Given the description of an element on the screen output the (x, y) to click on. 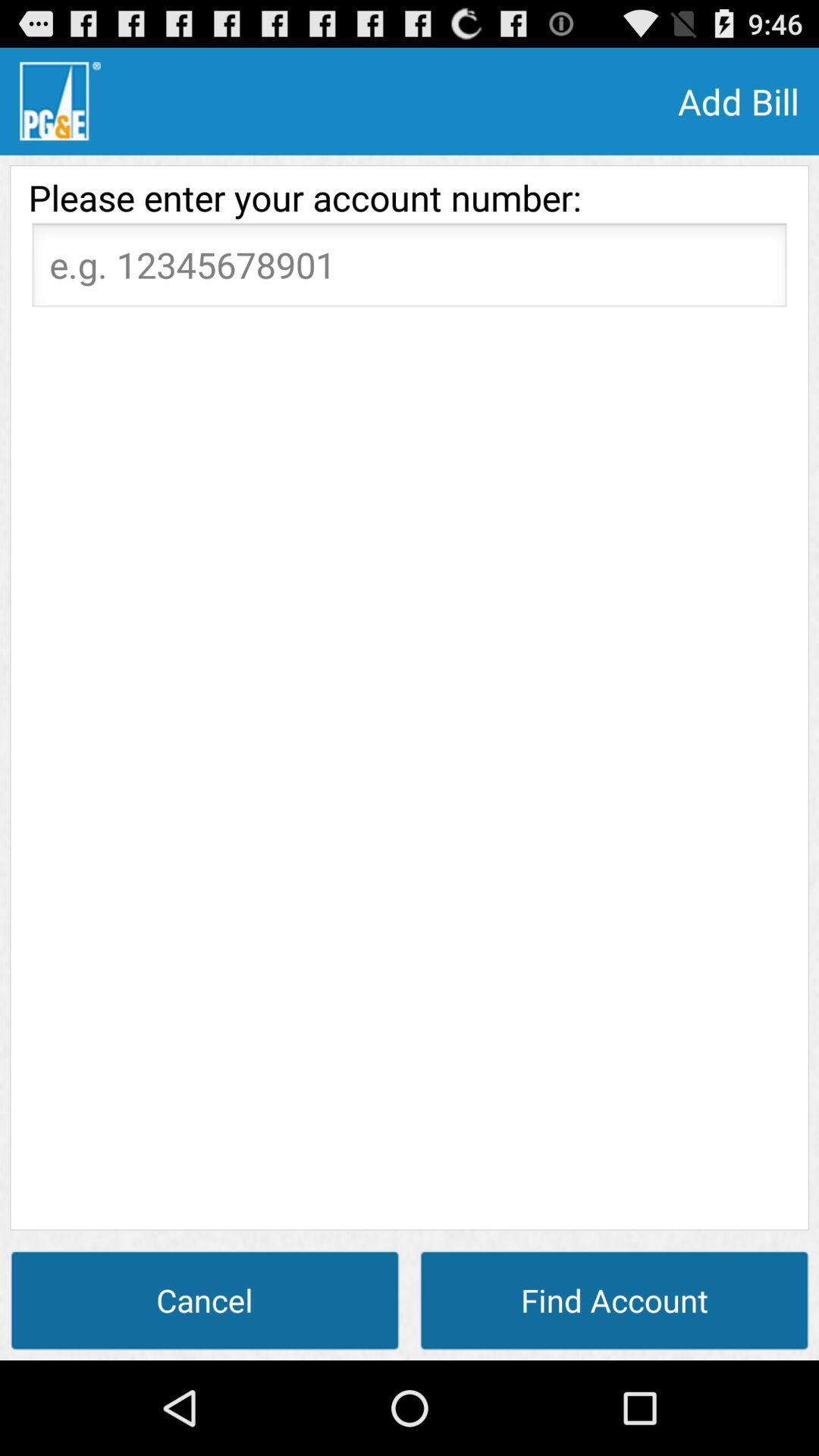
click the icon at the top left corner (59, 100)
